Given the description of an element on the screen output the (x, y) to click on. 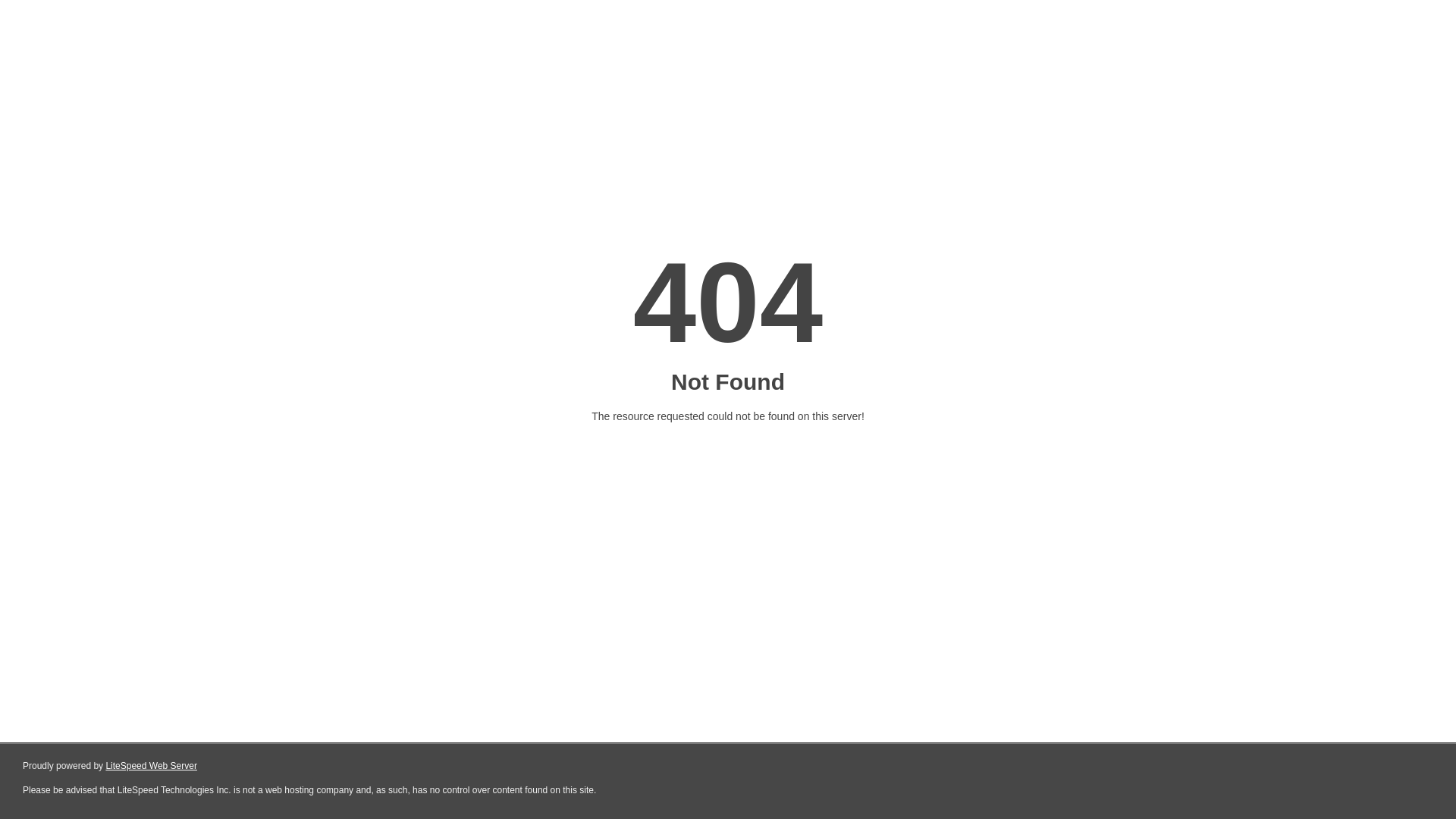
LiteSpeed Web Server Element type: text (151, 765)
